Given the description of an element on the screen output the (x, y) to click on. 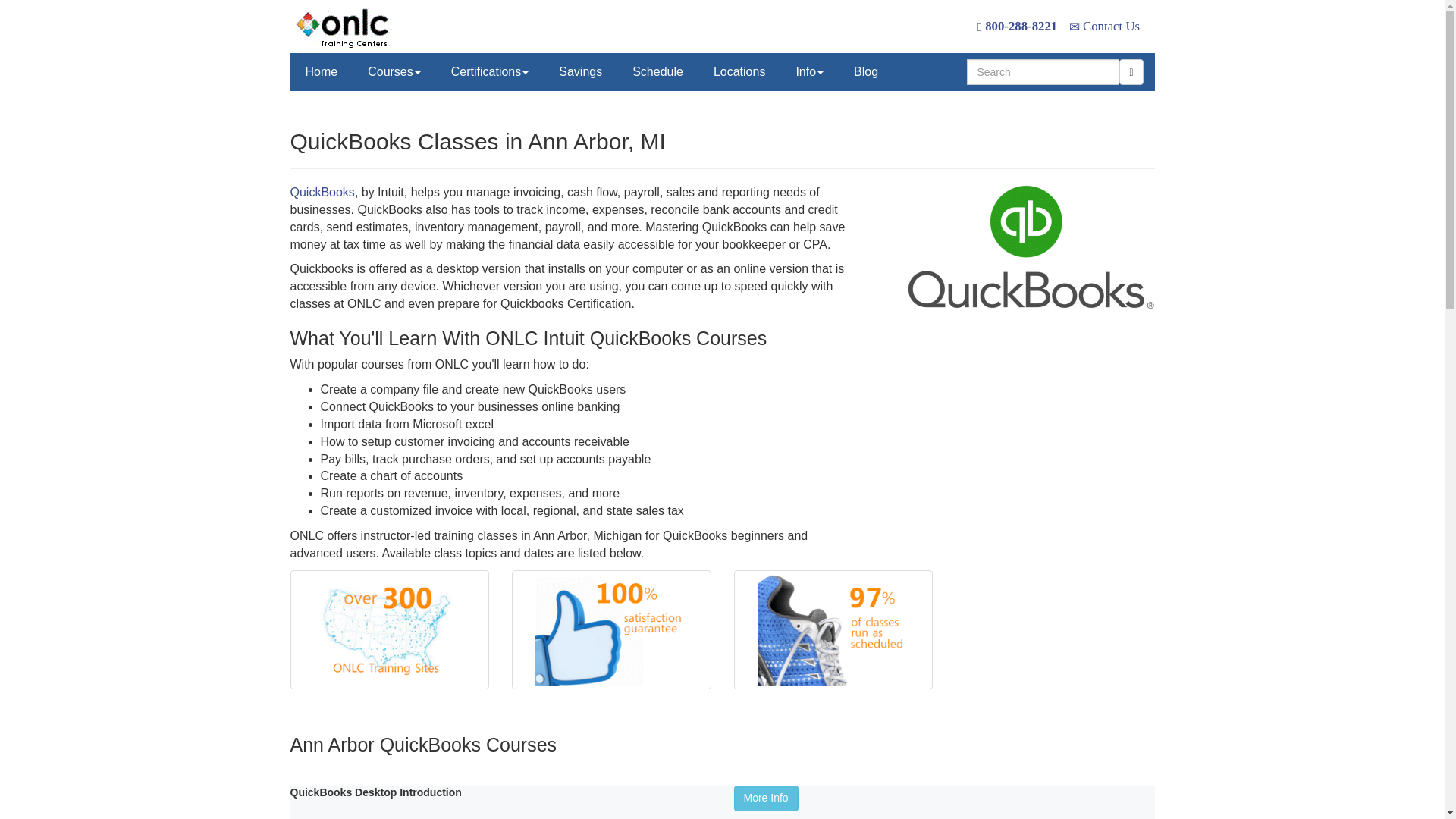
 800-288-8221 (1016, 25)
View outline, dates and pricing (765, 798)
 Contact Us (1104, 25)
Courses (393, 71)
Home (320, 71)
